Given the description of an element on the screen output the (x, y) to click on. 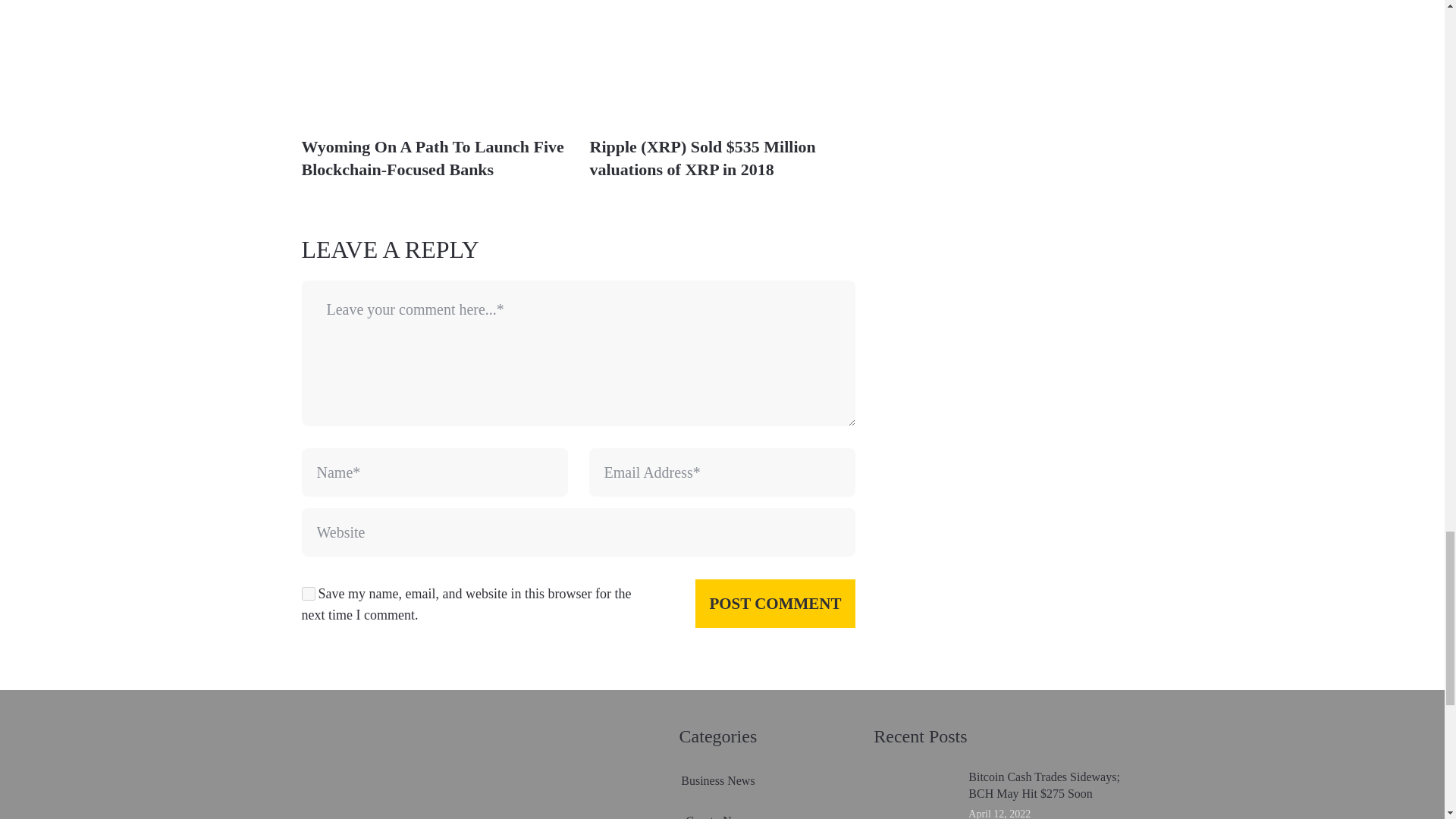
Wyoming On A Path To Launch Five Blockchain-Focused Banks (432, 158)
Post Comment (774, 603)
yes (308, 593)
Wyoming On A Path To Launch Five Blockchain-Focused Banks (432, 158)
Wyoming On A Path To Launch Five Blockchain-Focused Banks (434, 61)
